Given the description of an element on the screen output the (x, y) to click on. 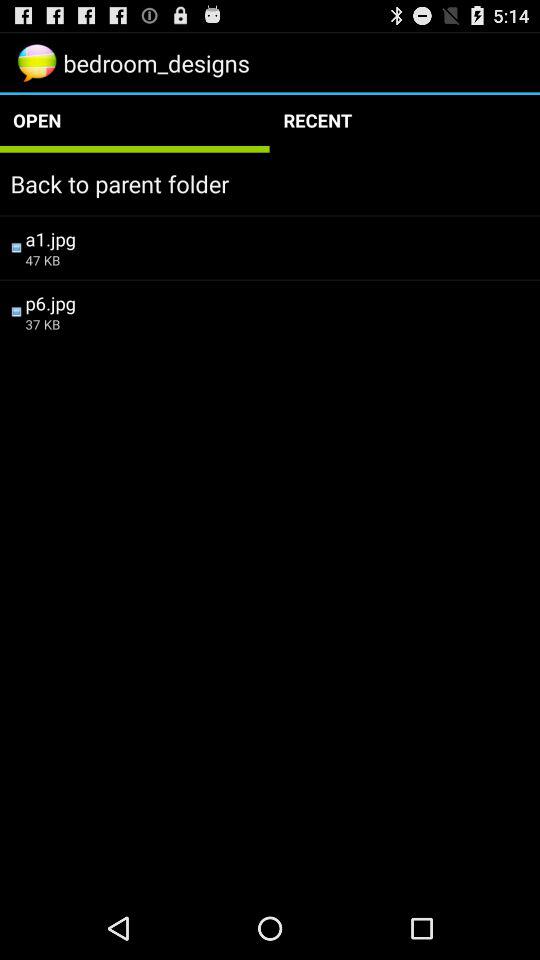
turn on the app above 37 kb (277, 302)
